Given the description of an element on the screen output the (x, y) to click on. 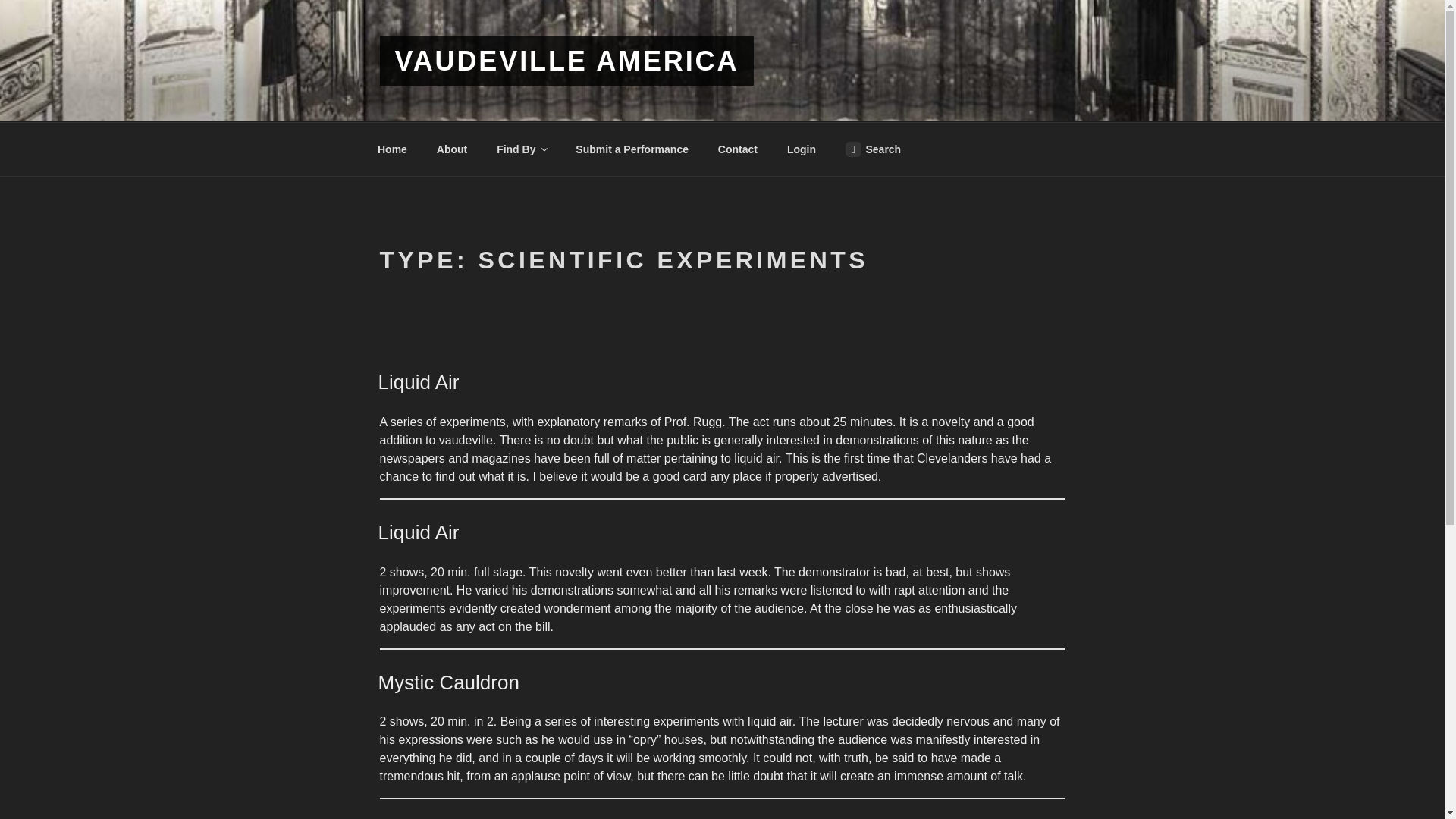
About (451, 148)
Submit a Performance (631, 148)
Login (800, 148)
Search (872, 148)
Liquid Air (417, 382)
Liquid Air (417, 531)
Contact (737, 148)
Home (392, 148)
Mystic Cauldron (447, 681)
VAUDEVILLE AMERICA (566, 60)
